Given the description of an element on the screen output the (x, y) to click on. 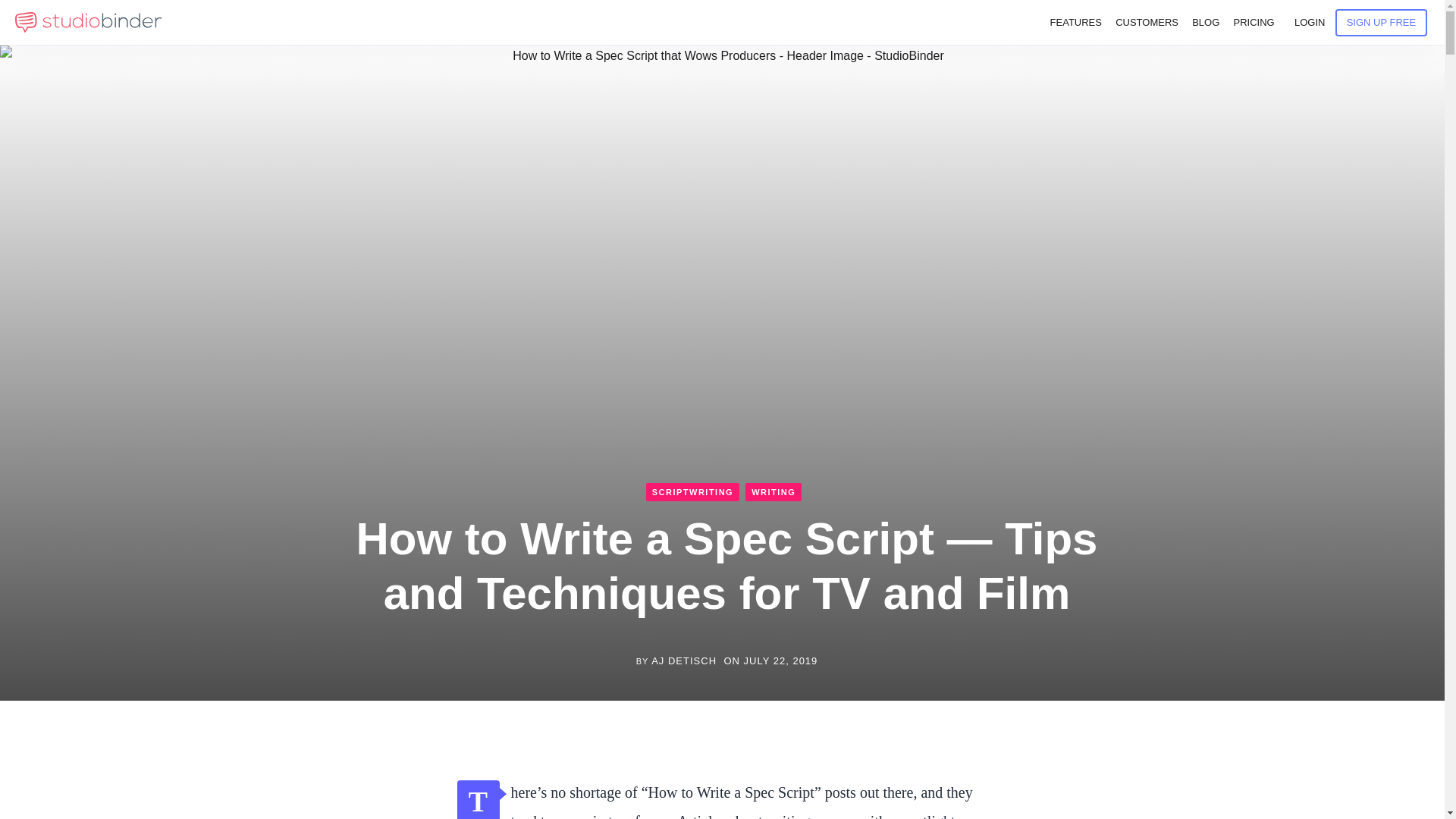
AJ DETISCH (683, 660)
LOGIN (1309, 22)
BLOG (1206, 22)
ON JULY 22, 2019 (769, 660)
WRITING (773, 492)
SIGN UP FREE (1381, 22)
Blog (1206, 22)
PRICING (1253, 22)
SCRIPTWRITING (692, 492)
FEATURES (1075, 22)
